Given the description of an element on the screen output the (x, y) to click on. 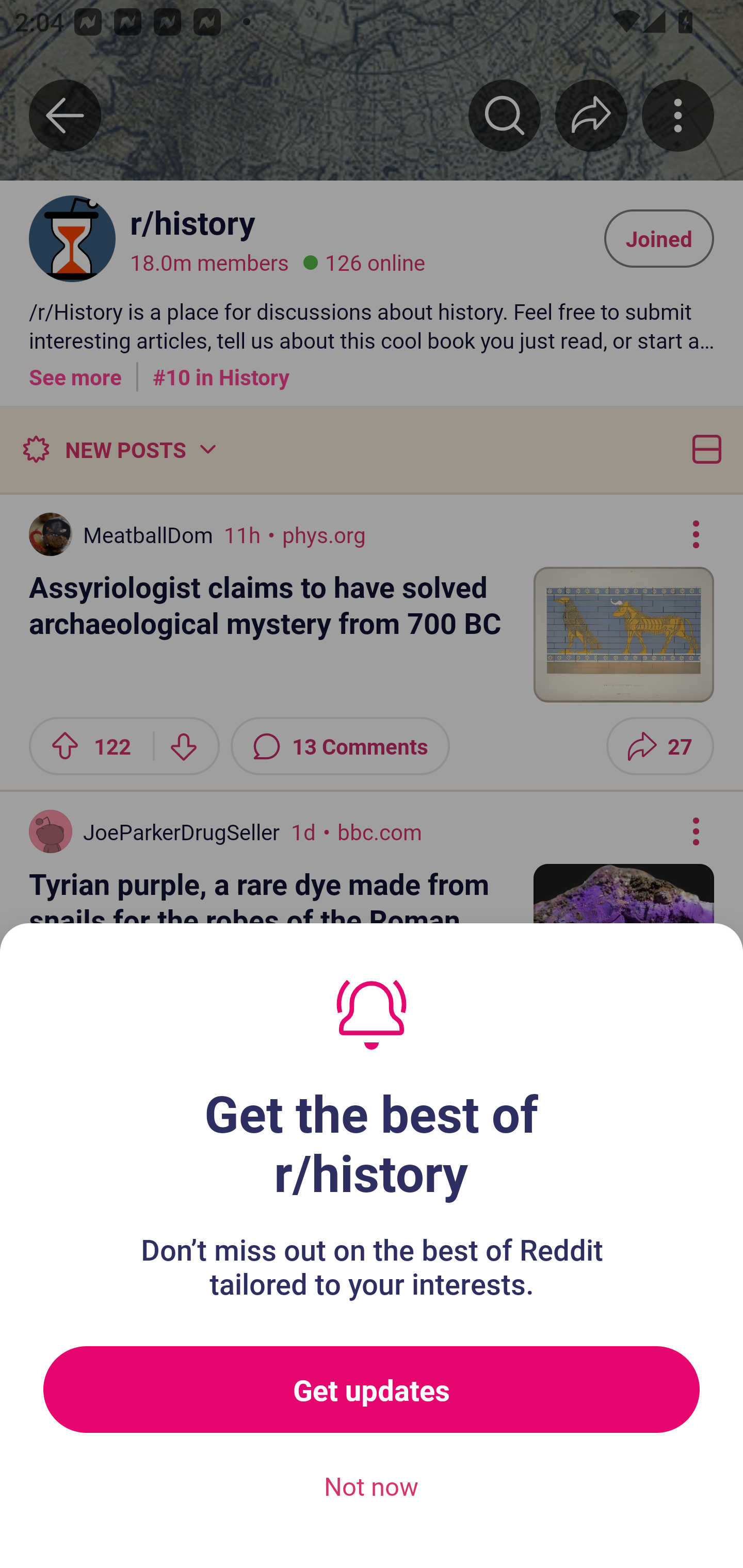
Get updates (371, 1389)
Not now (371, 1486)
